Given the description of an element on the screen output the (x, y) to click on. 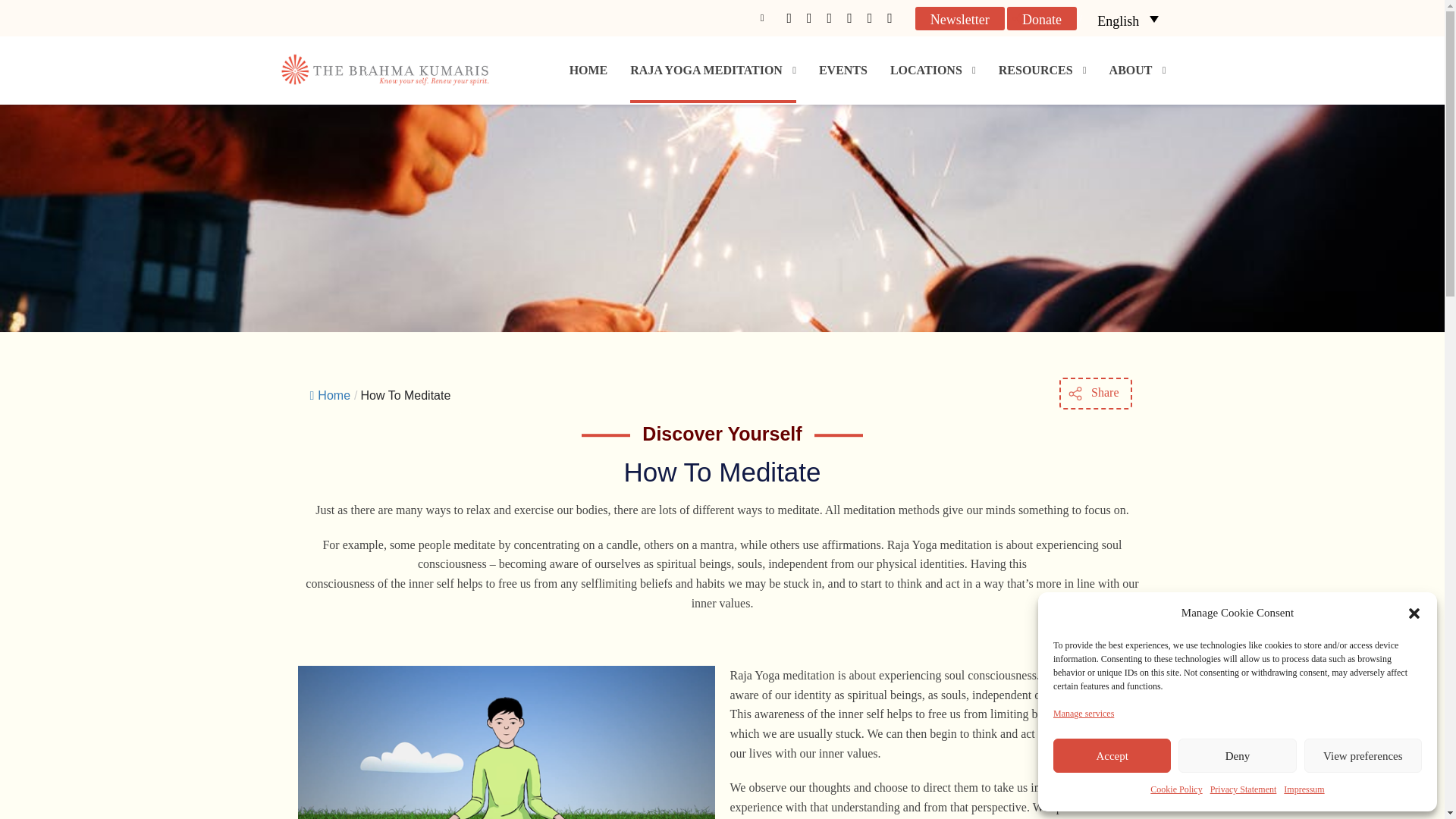
Cookie Policy (1176, 790)
English (1127, 17)
RAJA YOGA MEDITATION (713, 70)
Accept (1111, 755)
Impressum (1303, 790)
How To Meditate (404, 395)
Manage services (1082, 713)
Deny (1236, 755)
Donate (1042, 17)
View preferences (1363, 755)
Privacy Statement (1242, 790)
LOCATIONS (932, 70)
Newsletter (959, 17)
